Given the description of an element on the screen output the (x, y) to click on. 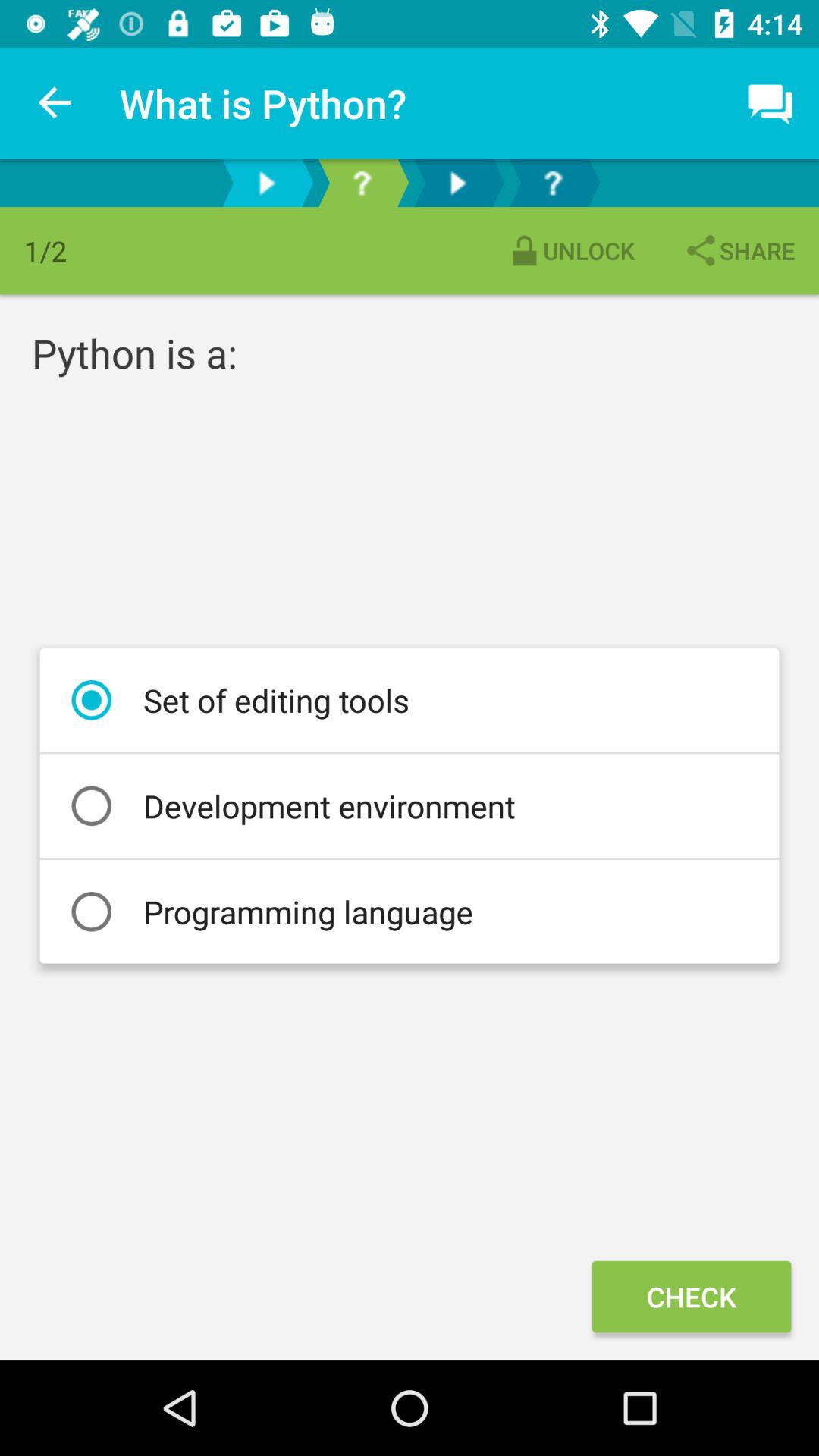
press the item next to unlock item (738, 250)
